Given the description of an element on the screen output the (x, y) to click on. 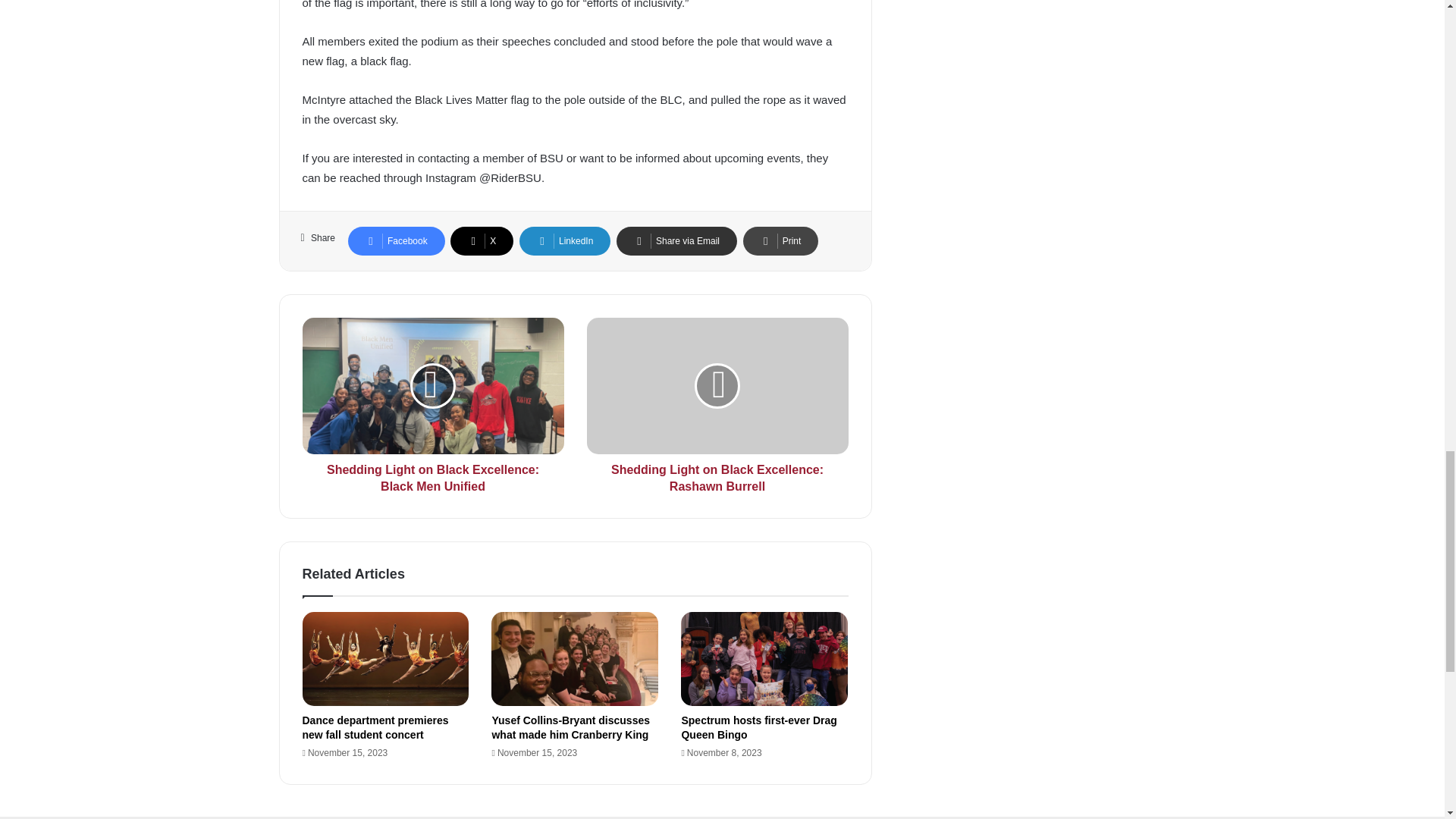
Share via Email (675, 240)
Shedding Light on Black Excellence: Black Men Unified (432, 474)
Yusef Collins-Bryant discusses what made him Cranberry King (570, 727)
Spectrum hosts first-ever Drag Queen Bingo (758, 727)
LinkedIn (564, 240)
Dance department premieres new fall student concert  (374, 727)
Shedding Light on Black Excellence: Rashawn Burrell (717, 474)
X (481, 240)
Facebook (396, 240)
Shedding Light on Black Excellence: Rashawn Burrell (717, 385)
Shedding Light on Black Excellence: Black Men Unified (432, 385)
Print (780, 240)
